Given the description of an element on the screen output the (x, y) to click on. 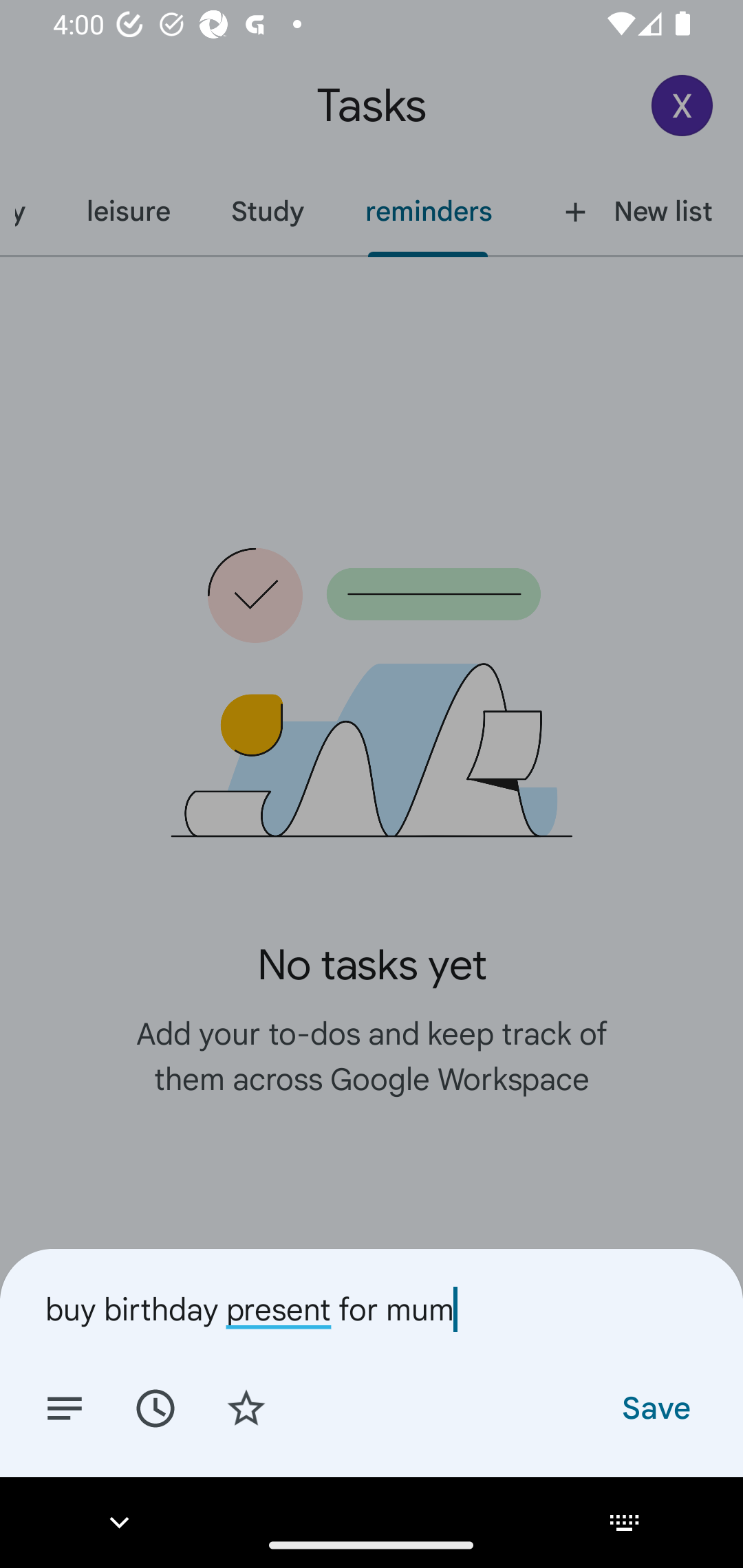
buy birthday present for mum (371, 1308)
Save (655, 1407)
Add details (64, 1407)
Set date/time (154, 1407)
Add star (245, 1407)
